Given the description of an element on the screen output the (x, y) to click on. 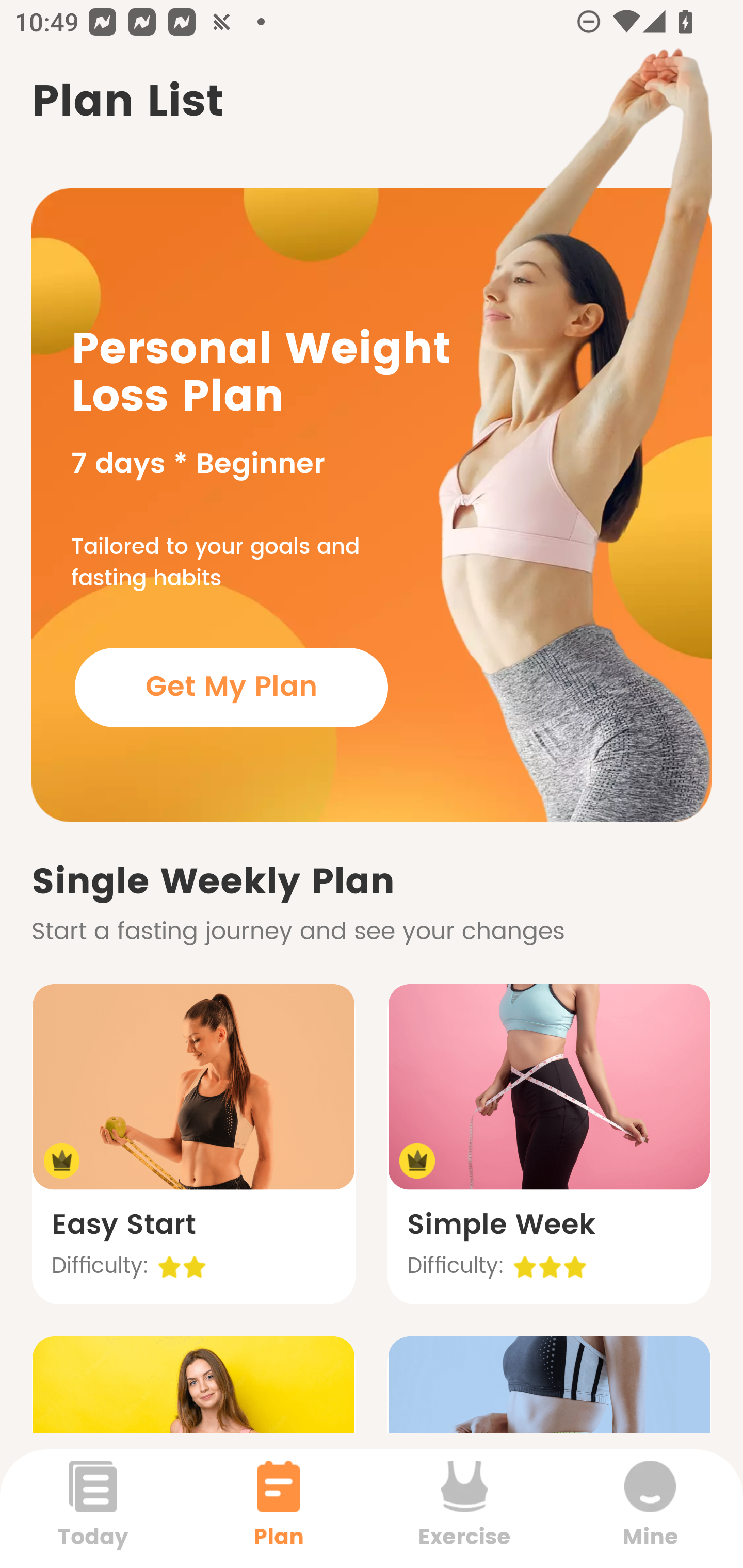
Get My Plan (231, 687)
Easy Start Difficulty: 2.0 (193, 1143)
Simple Week Difficulty: 3.0 (549, 1143)
Today (92, 1508)
Exercise (464, 1508)
Mine (650, 1508)
